Given the description of an element on the screen output the (x, y) to click on. 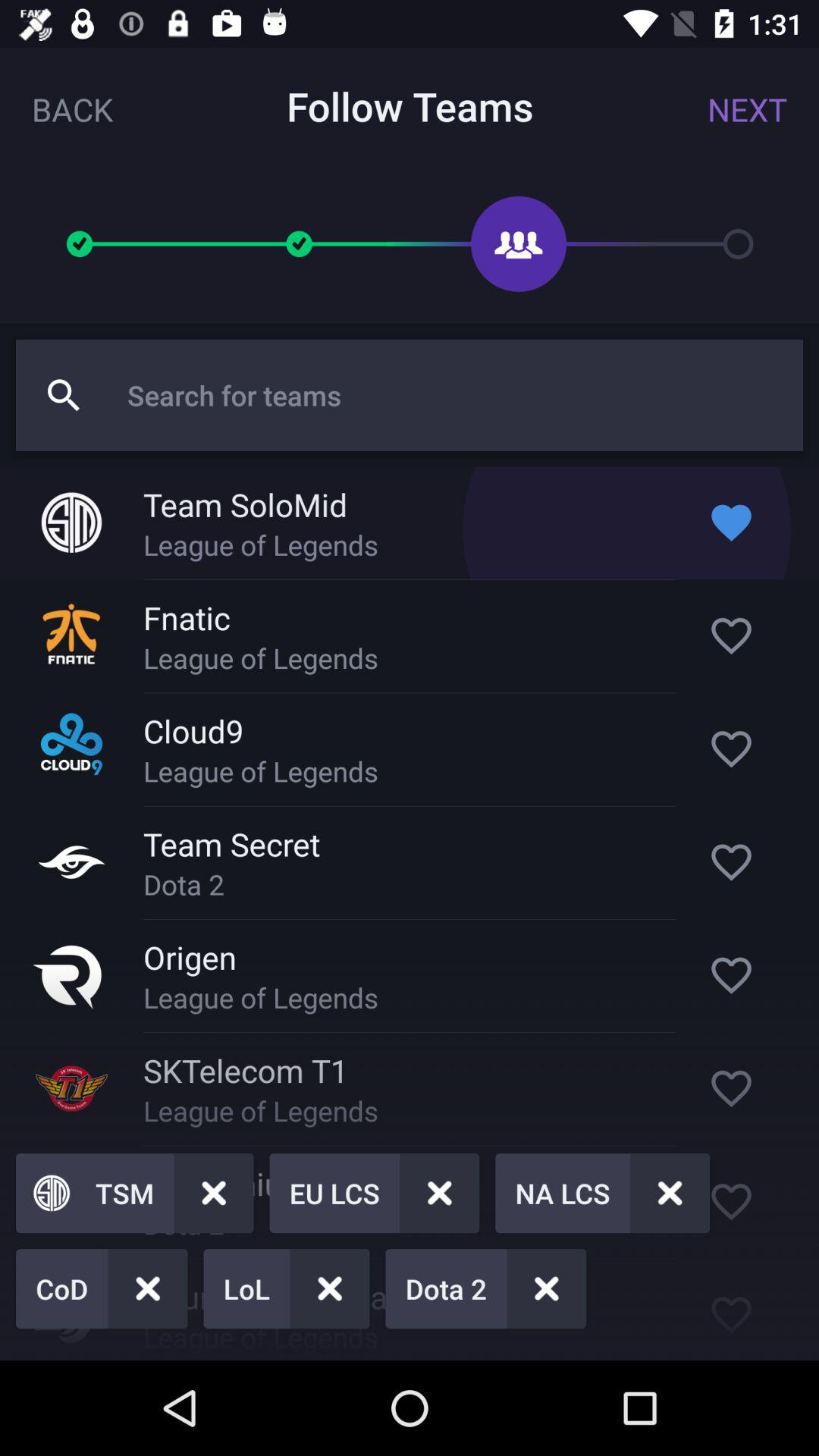
search term entry field (457, 395)
